Given the description of an element on the screen output the (x, y) to click on. 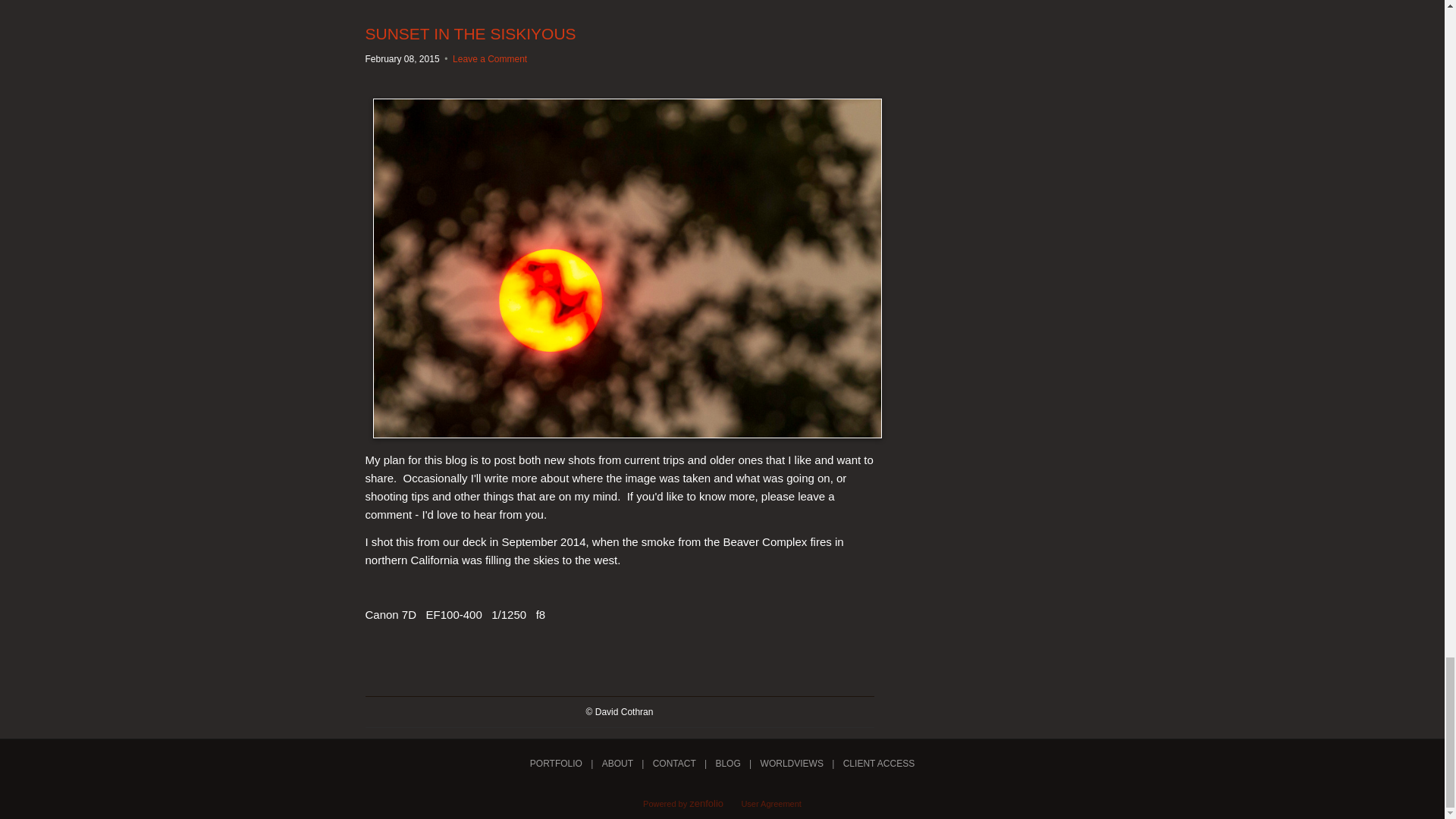
Leave a Comment (489, 59)
SUNSET IN THE SISKIYOUS (470, 33)
